Given the description of an element on the screen output the (x, y) to click on. 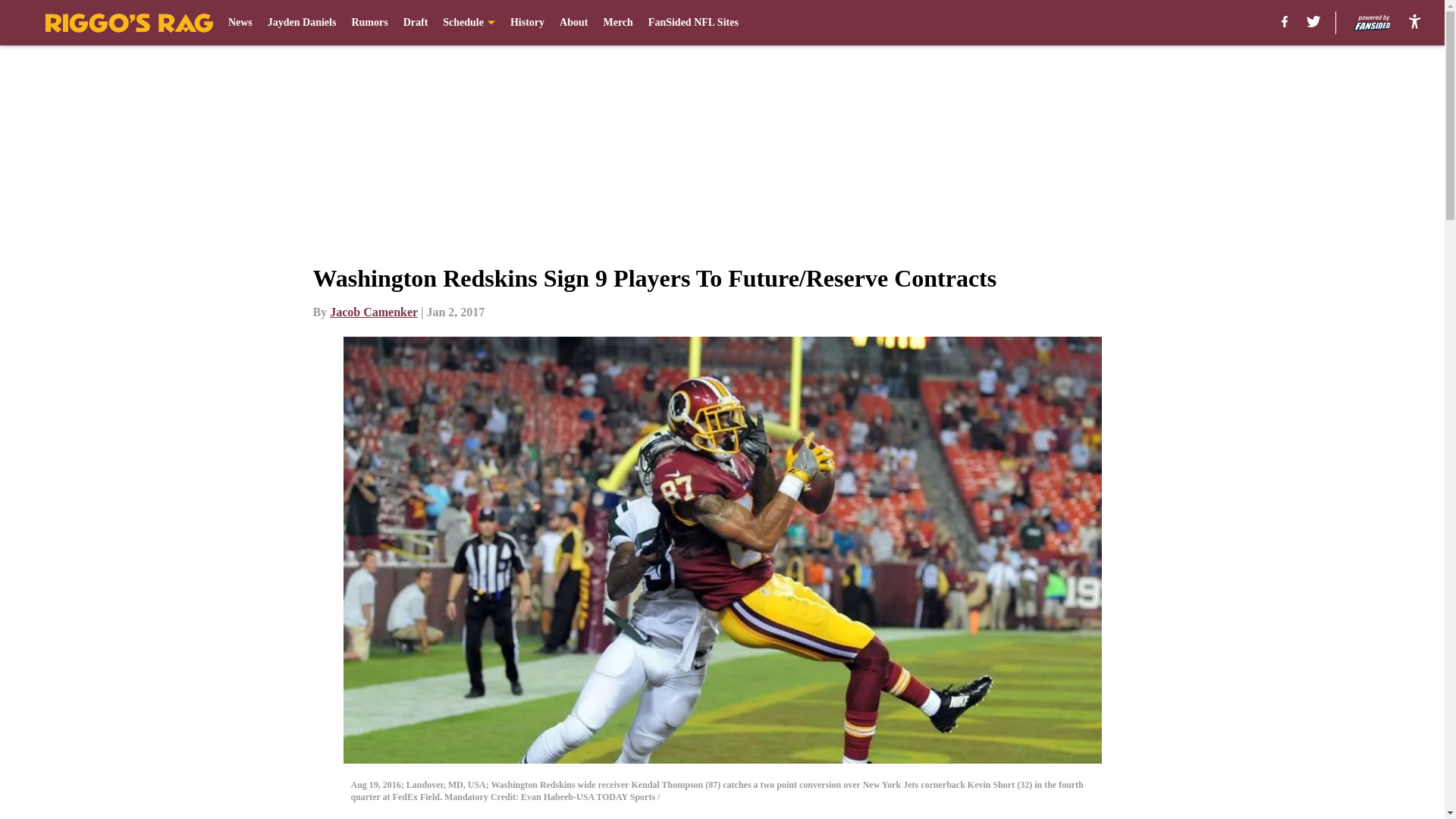
Rumors (368, 22)
News (239, 22)
Jacob Camenker (373, 311)
About (573, 22)
Draft (415, 22)
Jayden Daniels (301, 22)
Merch (616, 22)
FanSided NFL Sites (692, 22)
History (527, 22)
